Given the description of an element on the screen output the (x, y) to click on. 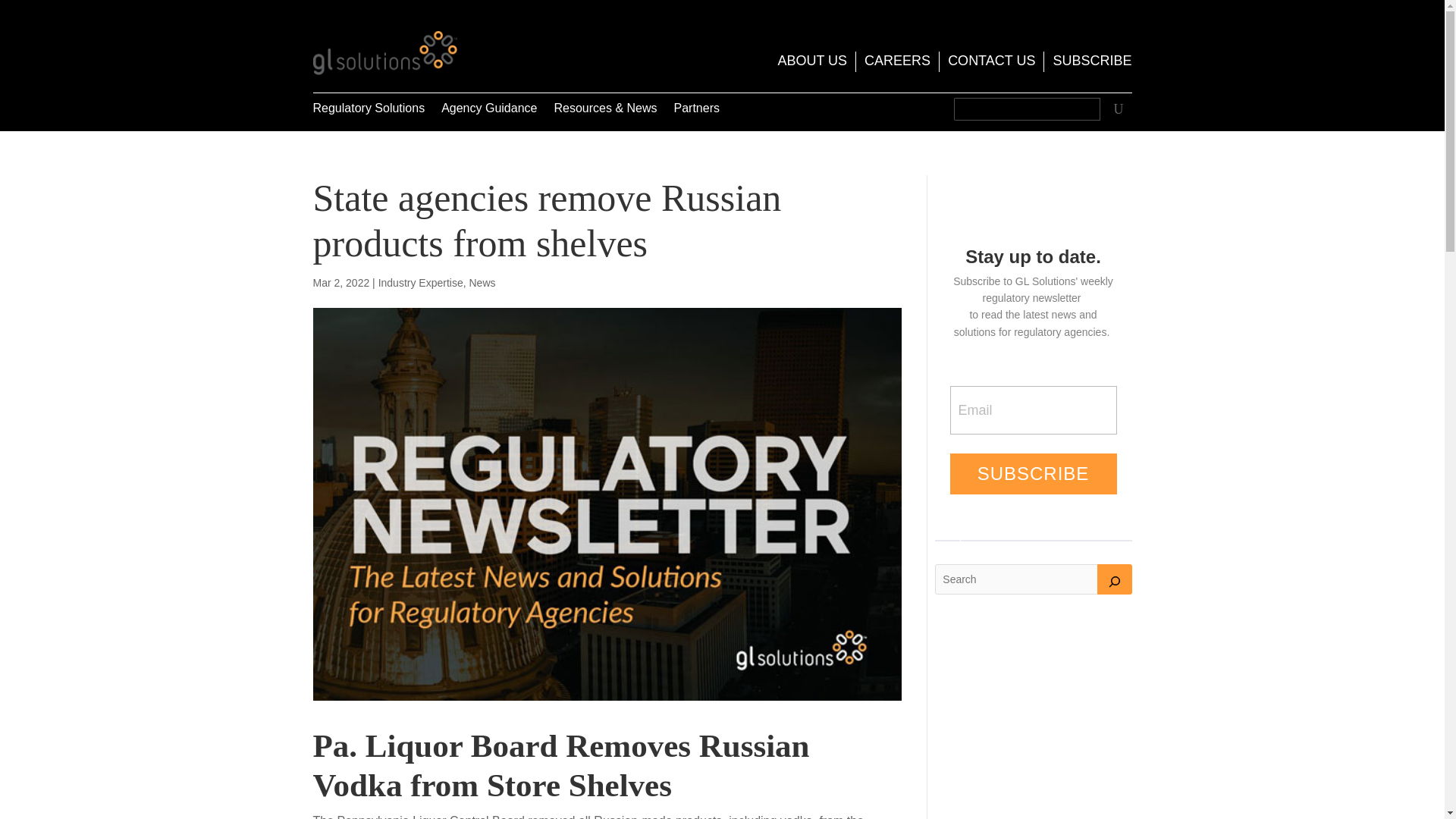
gl-solutions-logo (385, 53)
CAREERS (897, 63)
Search (1115, 108)
Regulatory Solutions (369, 111)
ABOUT US (812, 63)
CONTACT US (991, 63)
SUBSCRIBE (1091, 63)
Agency Guidance (489, 111)
Search (1115, 108)
